Given the description of an element on the screen output the (x, y) to click on. 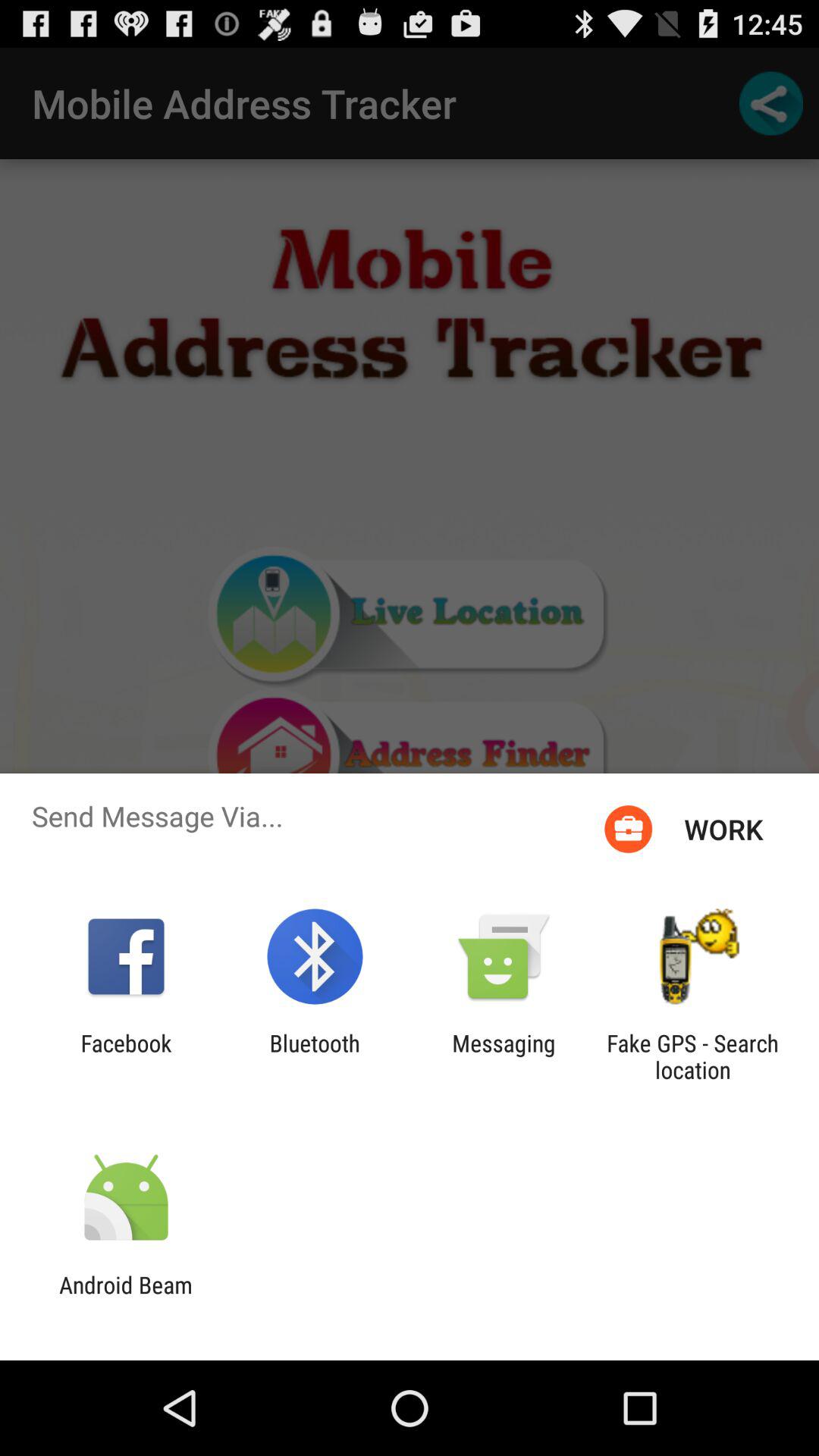
launch bluetooth app (314, 1056)
